Given the description of an element on the screen output the (x, y) to click on. 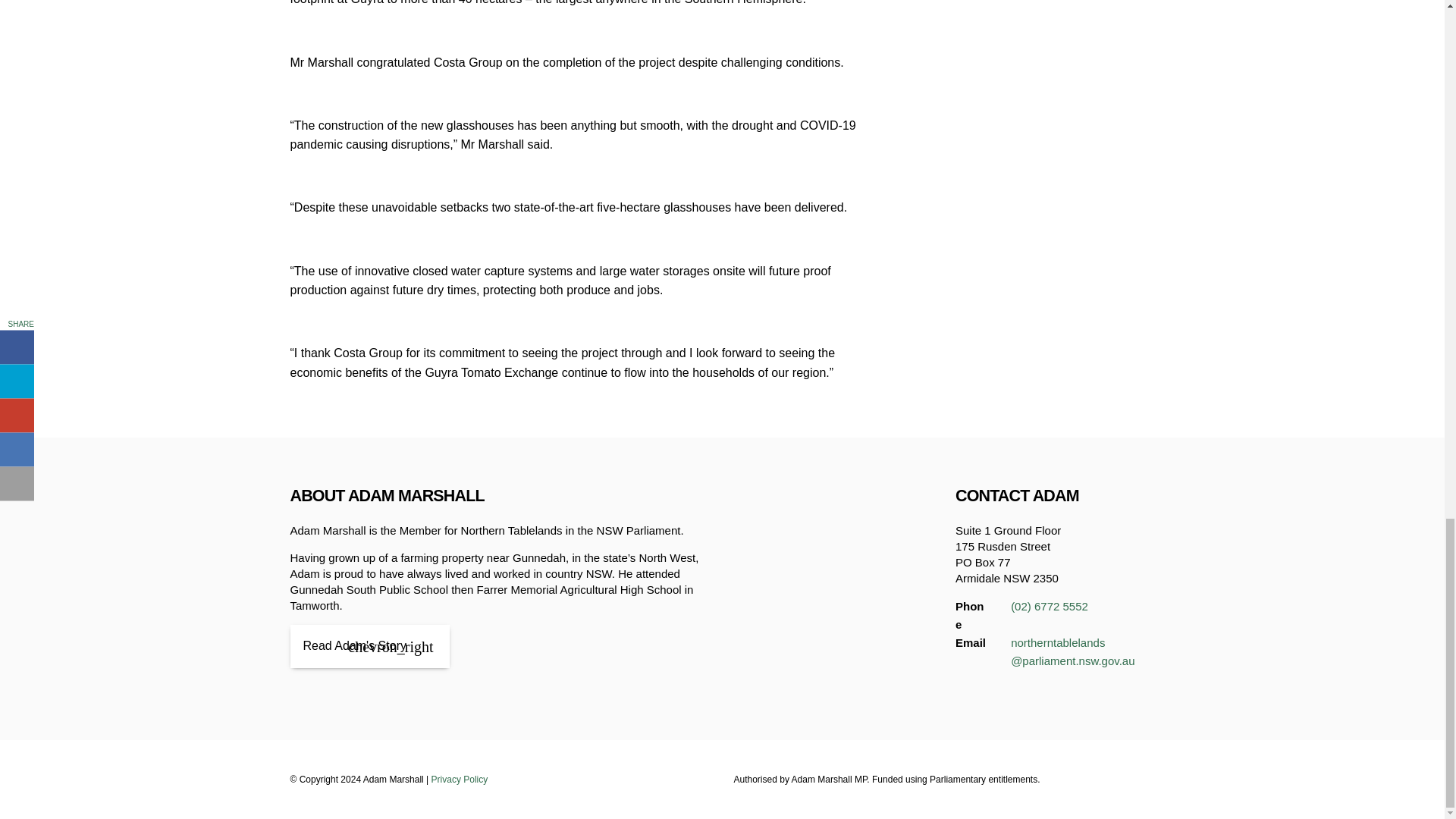
Read Adam's Story (368, 646)
Privacy Policy (458, 778)
